Given the description of an element on the screen output the (x, y) to click on. 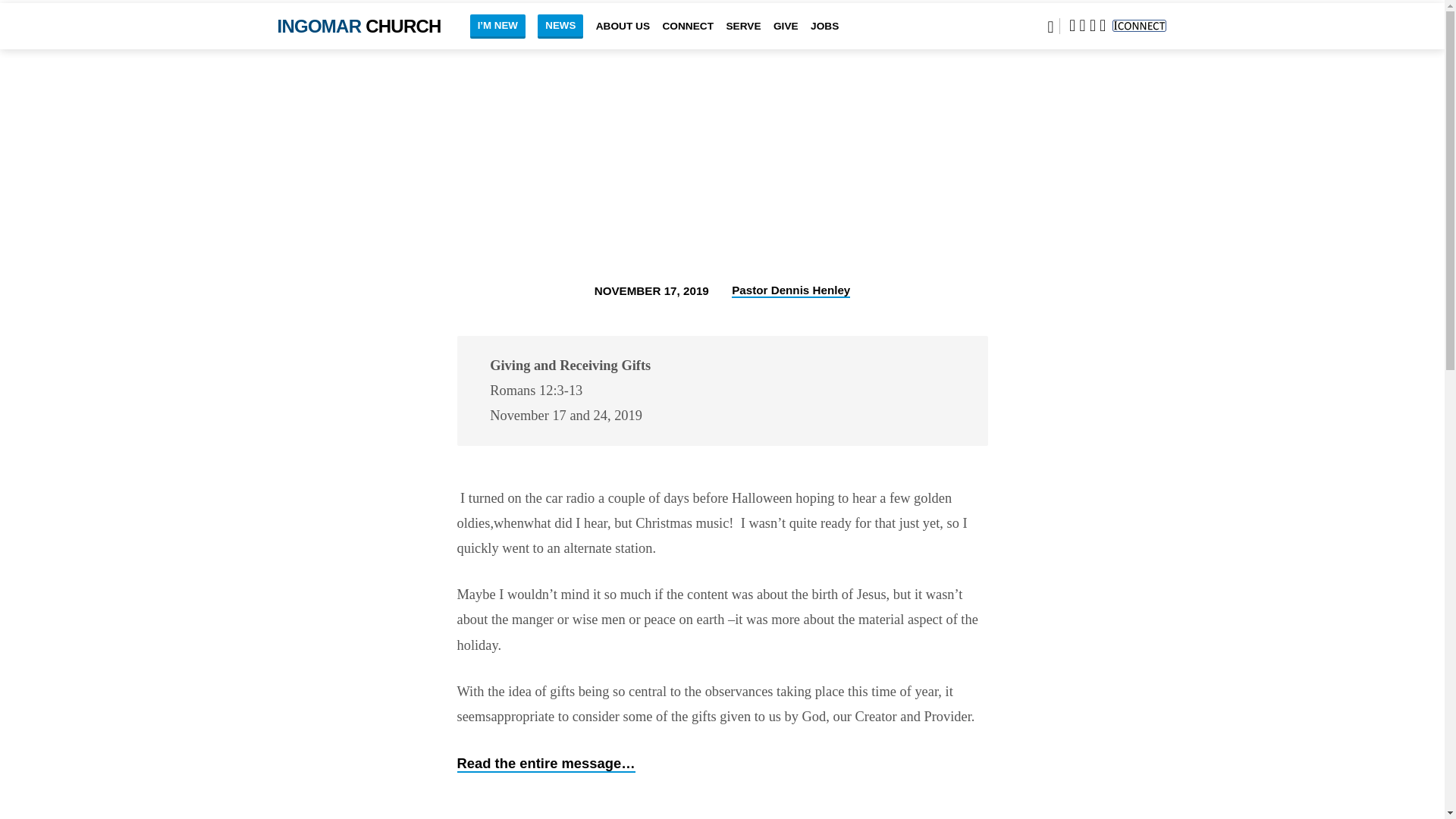
INGOMAR CHURCH (359, 25)
ingomar.ccbchurch.com (1137, 25)
SERVE (742, 35)
CONNECT (687, 35)
ABOUT US (622, 35)
NEWS (560, 25)
